Given the description of an element on the screen output the (x, y) to click on. 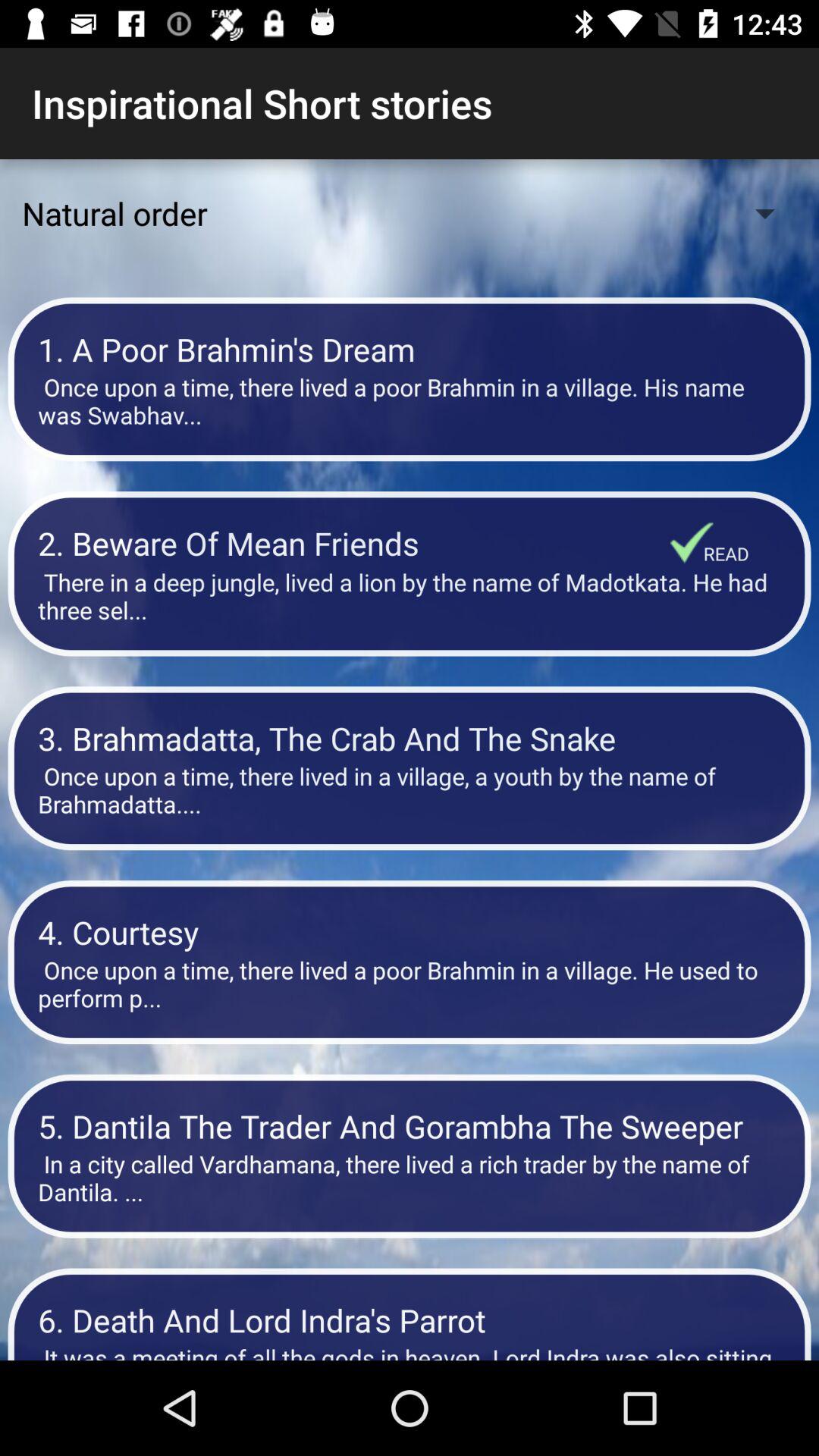
click the 3 brahmadatta the item (409, 737)
